Given the description of an element on the screen output the (x, y) to click on. 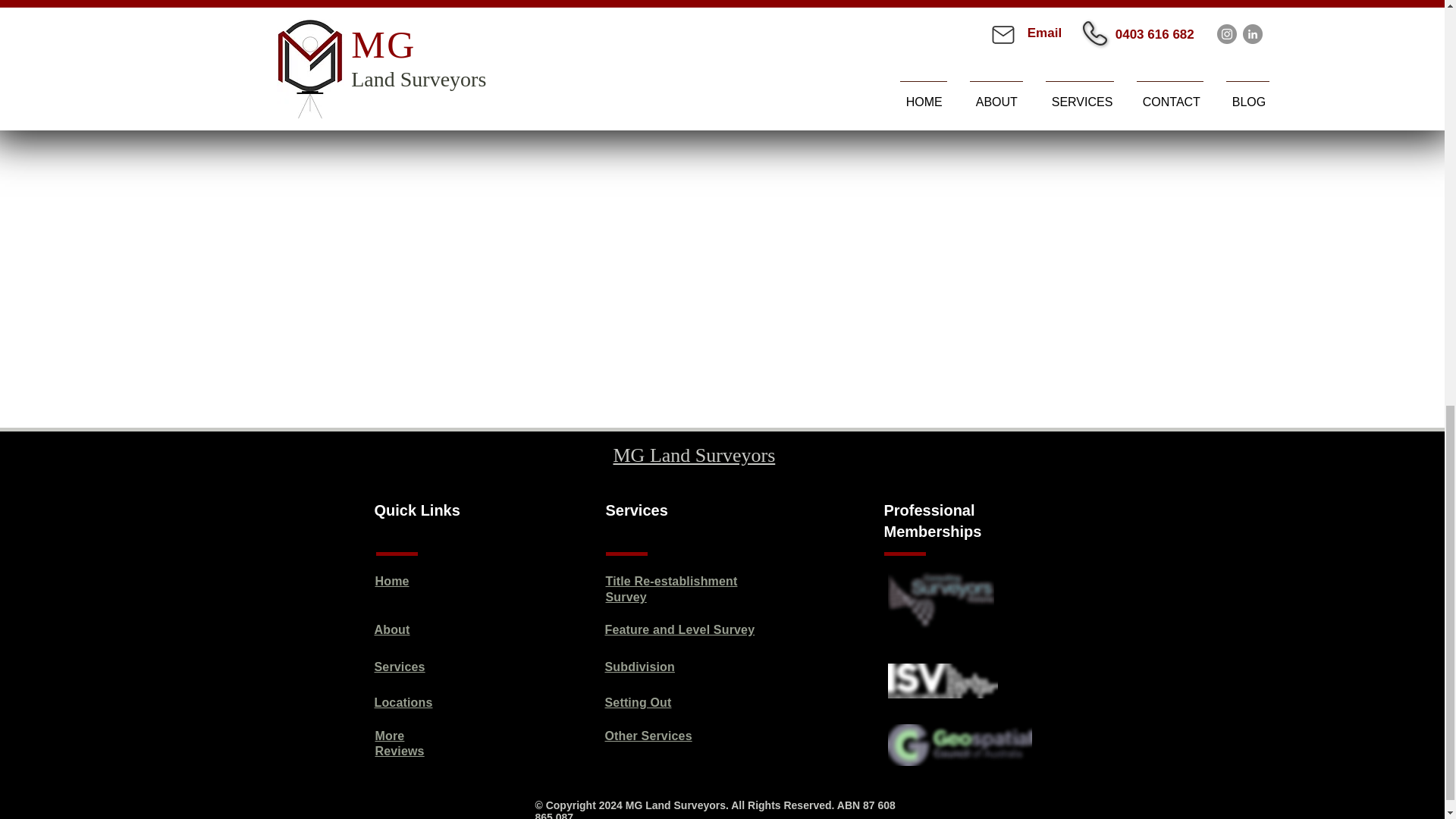
MG Land Surveyors (693, 455)
Services (399, 666)
Setting Out (638, 702)
Home (391, 581)
Subdivision (640, 666)
Locations (403, 702)
Feature and Level Survey (680, 629)
More Reviews (398, 743)
Title Re-establishment Survey (670, 588)
About (392, 629)
Other Services (649, 735)
